Given the description of an element on the screen output the (x, y) to click on. 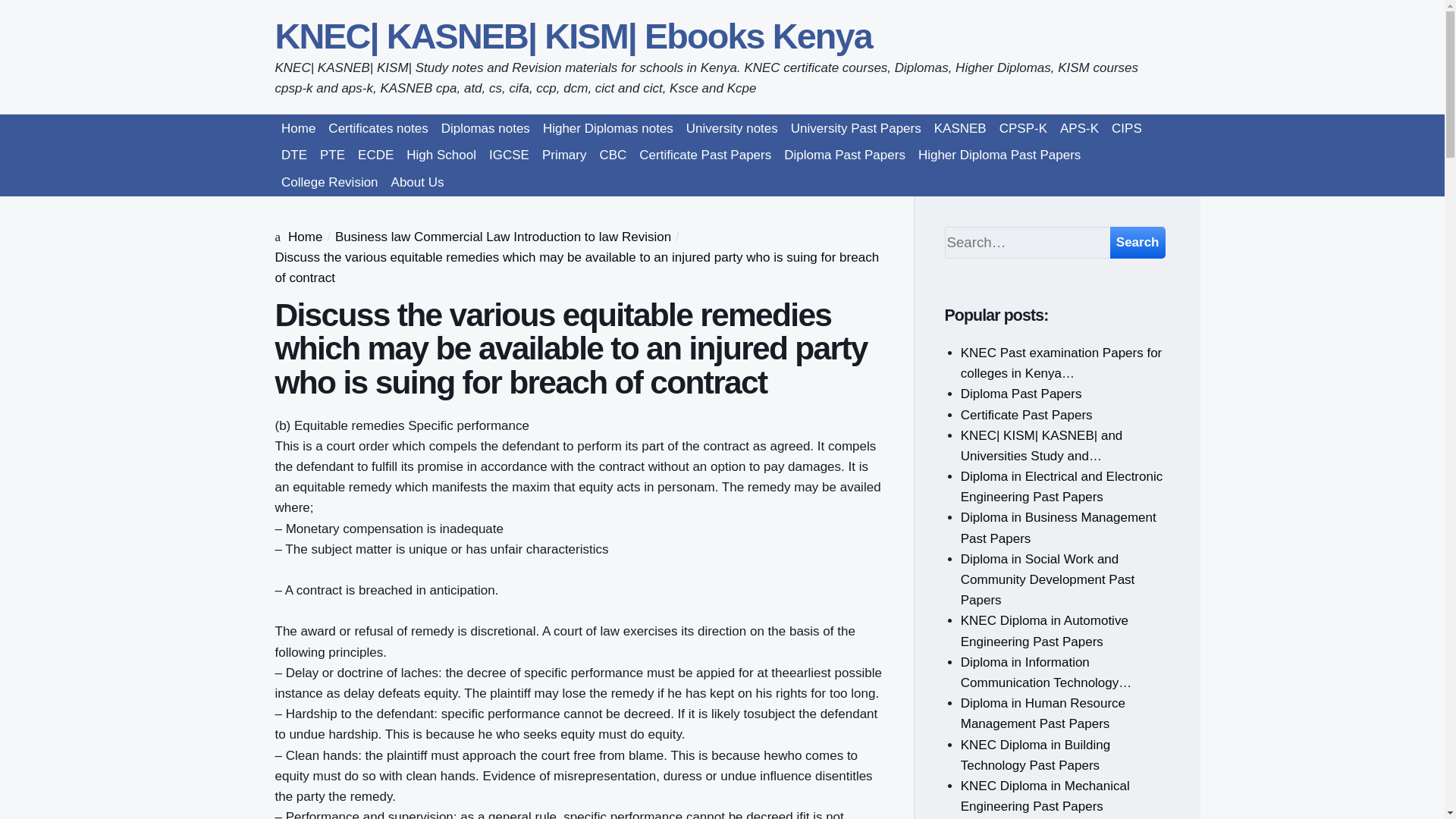
IGCSE (508, 154)
Higher Diplomas notes (607, 127)
Business law Commercial Law Introduction to law Revision (502, 237)
ECDE (376, 154)
PTE (333, 154)
Higher Diploma Past Papers (998, 154)
Diplomas notes (484, 127)
Primary (563, 154)
CIPS (1126, 127)
